Given the description of an element on the screen output the (x, y) to click on. 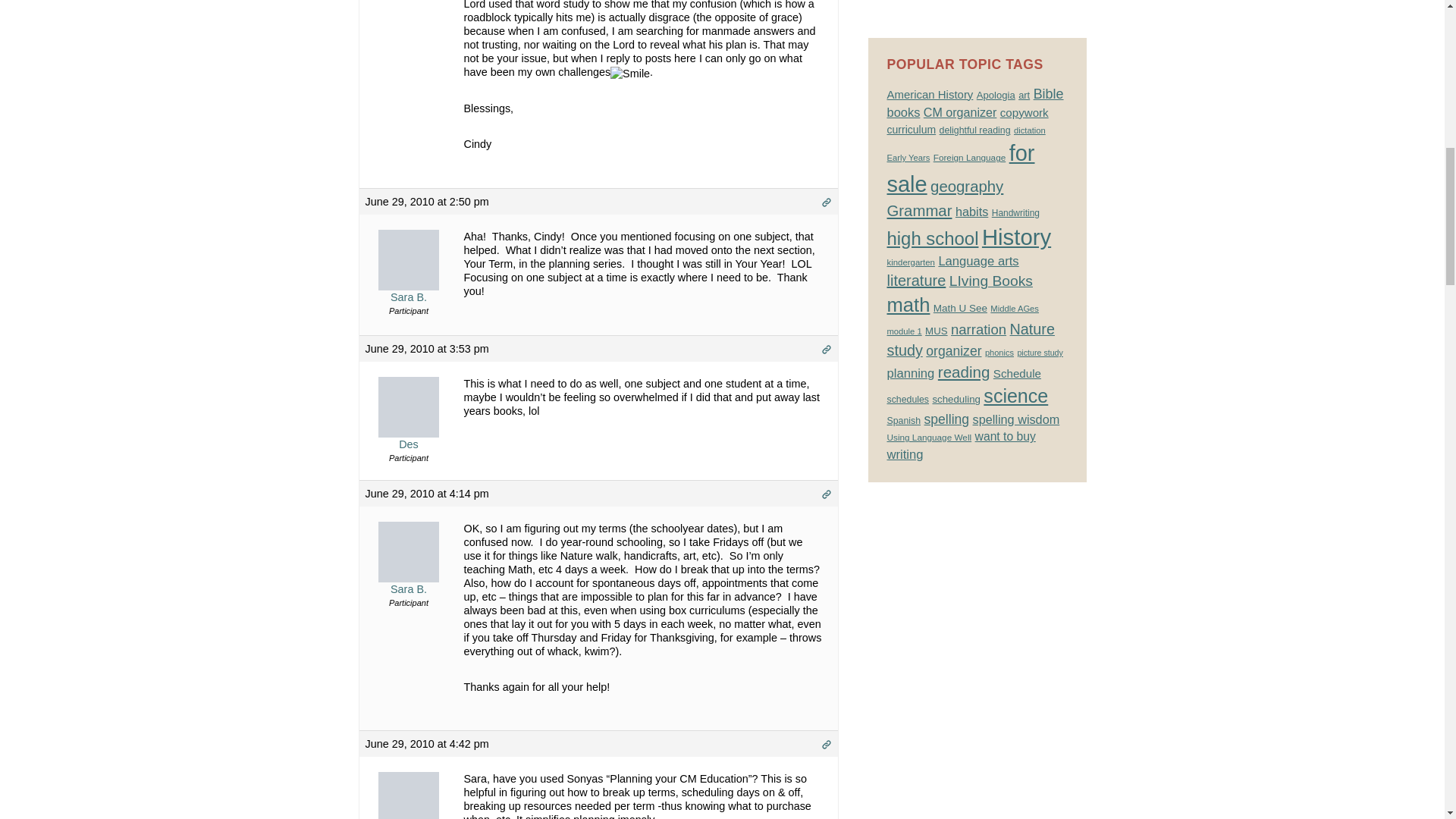
View Sara B.'s profile (408, 275)
Smile (629, 73)
View Des's profile (408, 423)
View Sara B.'s profile (408, 568)
View csmamma's profile (408, 805)
